Given the description of an element on the screen output the (x, y) to click on. 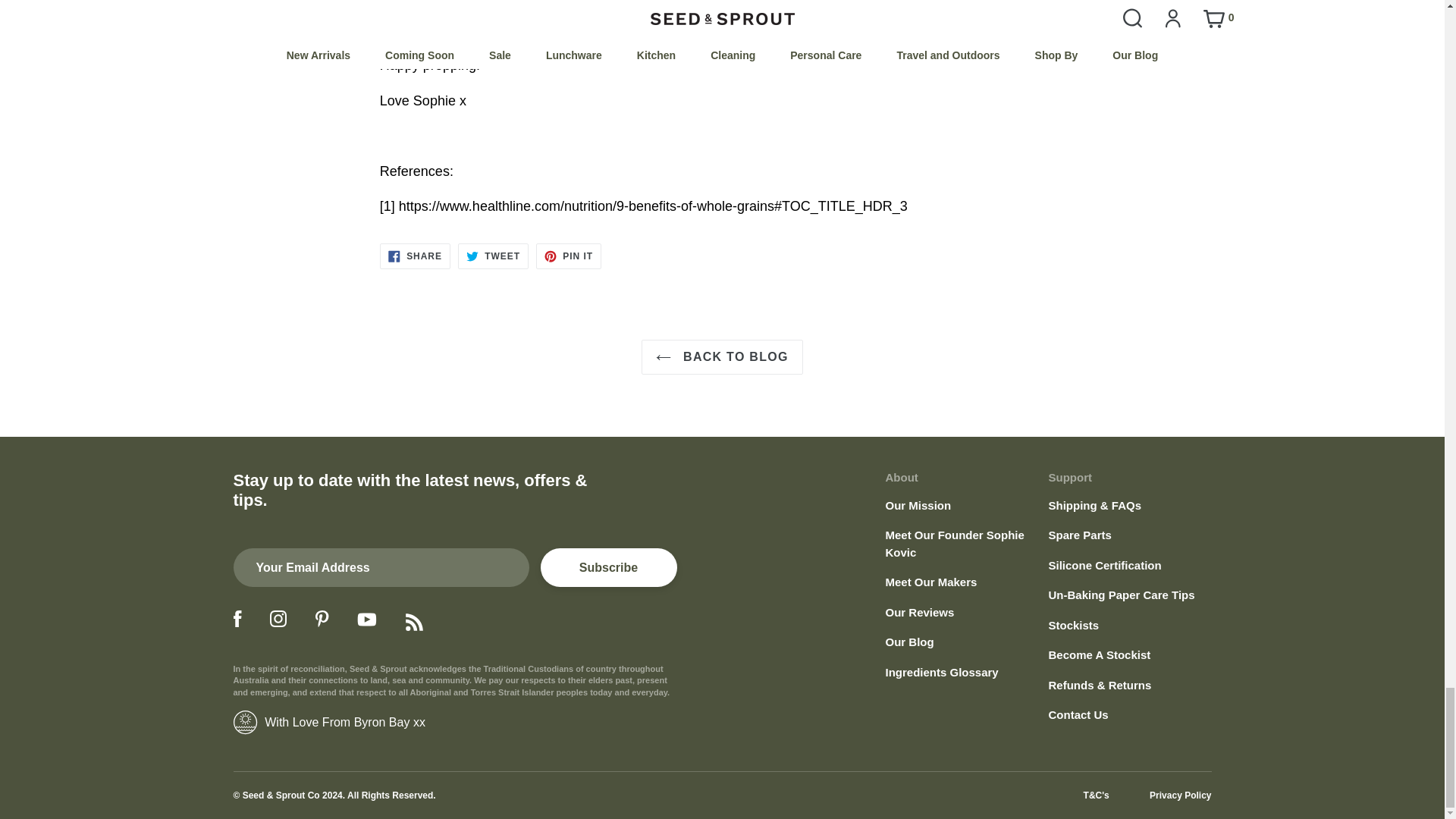
Tweet on Twitter (493, 256)
Pin on Pinterest (568, 256)
Share on Facebook (414, 256)
